Given the description of an element on the screen output the (x, y) to click on. 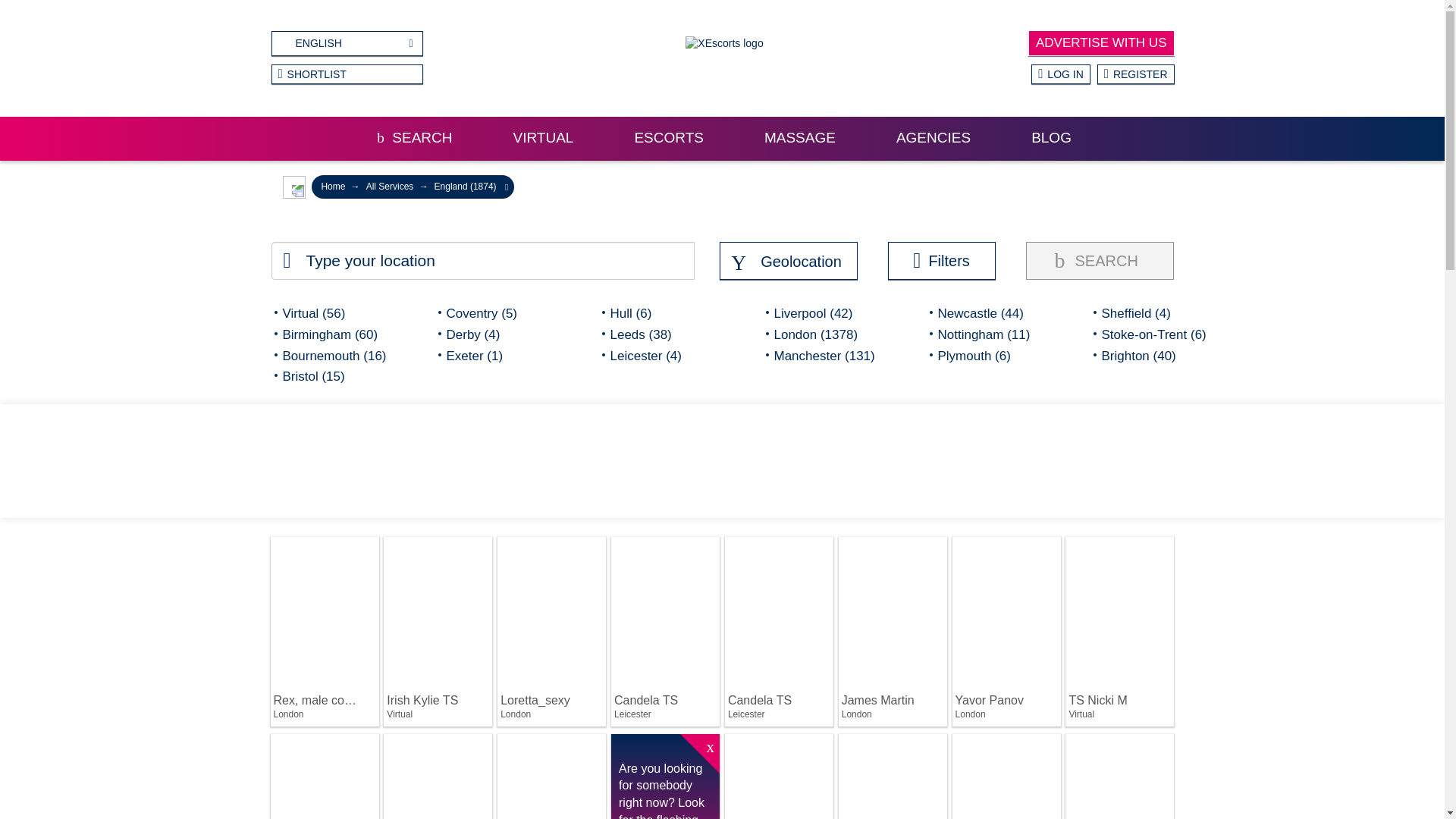
Sheffield Escorts (1153, 312)
London Escorts (826, 334)
ENGLISH (346, 43)
Bristol Escorts (335, 375)
Virtual Escorts (335, 312)
Manchester Escorts (826, 355)
Plymouth Escorts (990, 355)
Coventry Escorts (498, 312)
Liverpool Escorts (826, 312)
Newcastle Escorts (990, 312)
